Given the description of an element on the screen output the (x, y) to click on. 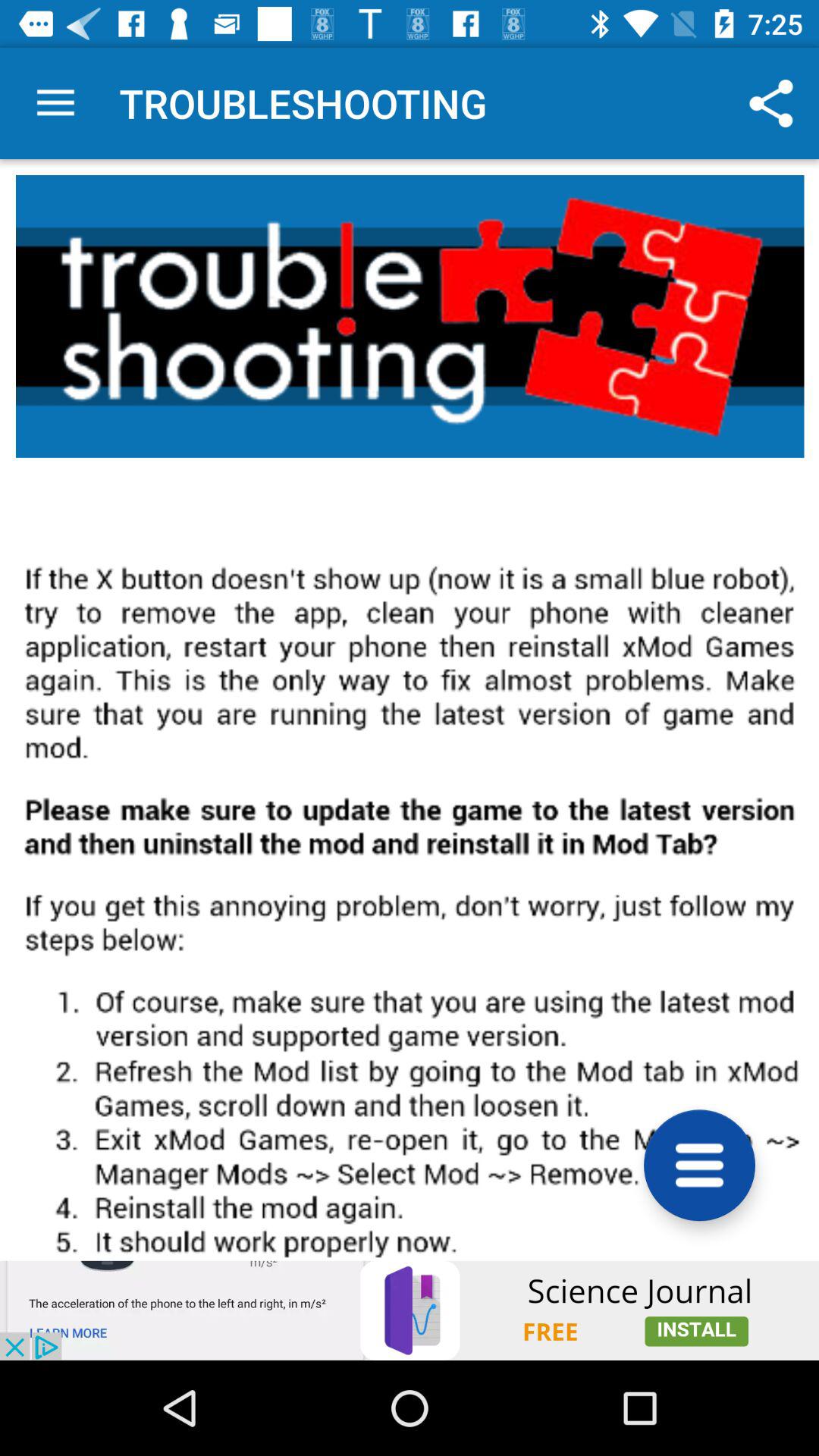
advertisement area (409, 1310)
